Given the description of an element on the screen output the (x, y) to click on. 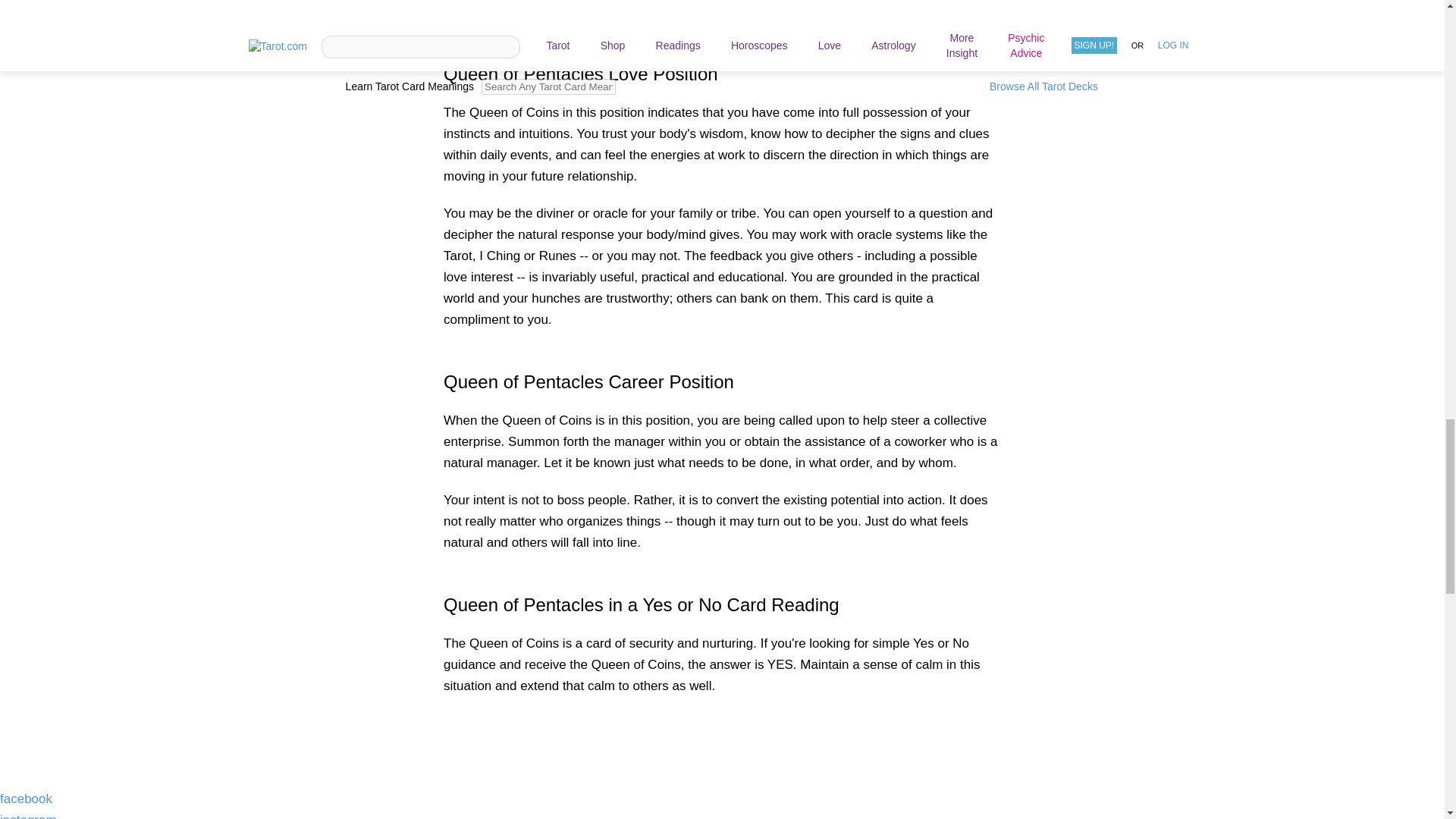
facebook (26, 798)
